Given the description of an element on the screen output the (x, y) to click on. 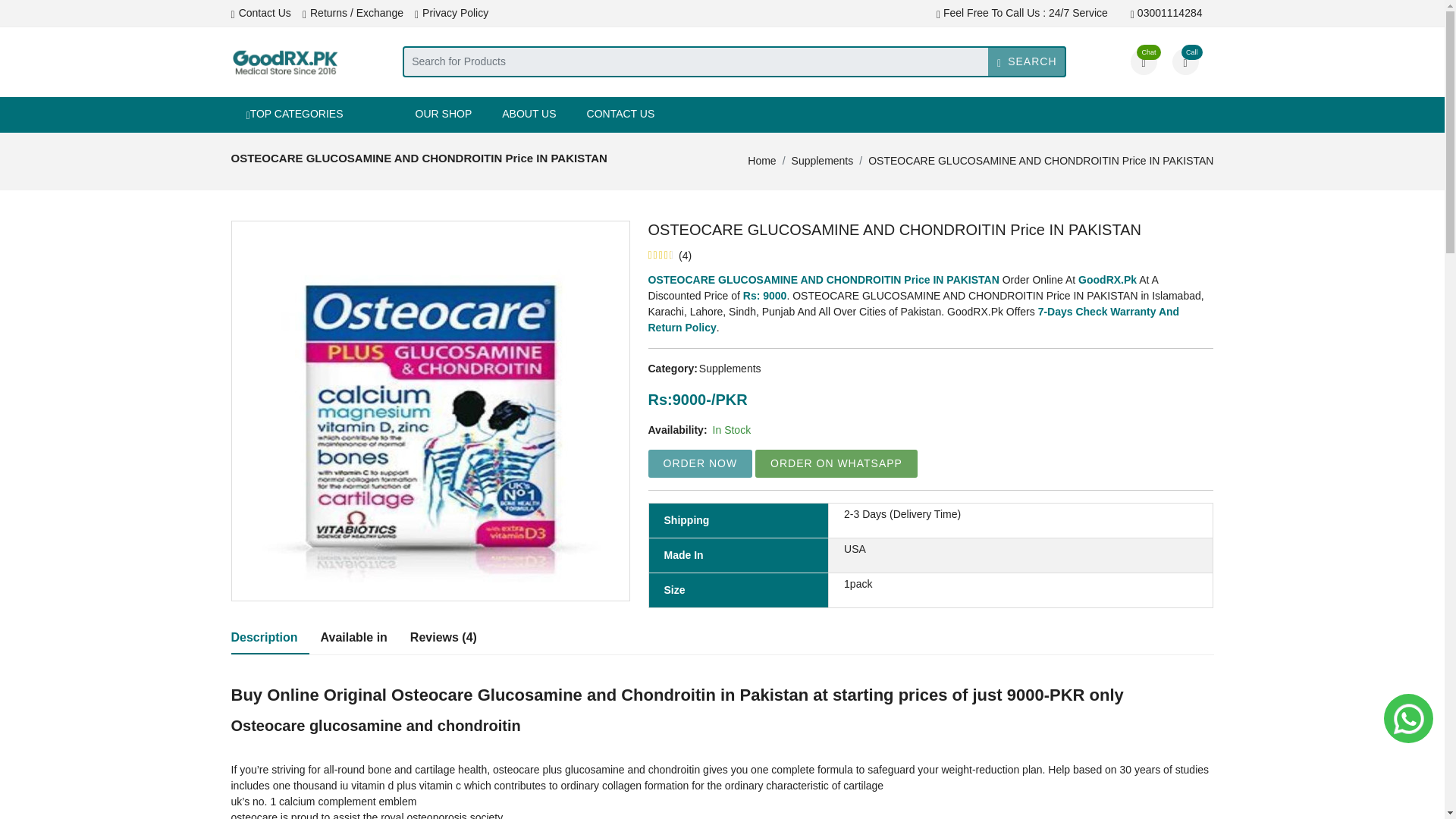
Call (1185, 61)
CONTACT US (620, 113)
Chat (1142, 61)
SEARCH (1026, 60)
ABOUT US (528, 113)
OUR SHOP (443, 113)
Privacy Policy (450, 12)
TOP CATEGORIES (314, 114)
Contact Us (259, 12)
